Given the description of an element on the screen output the (x, y) to click on. 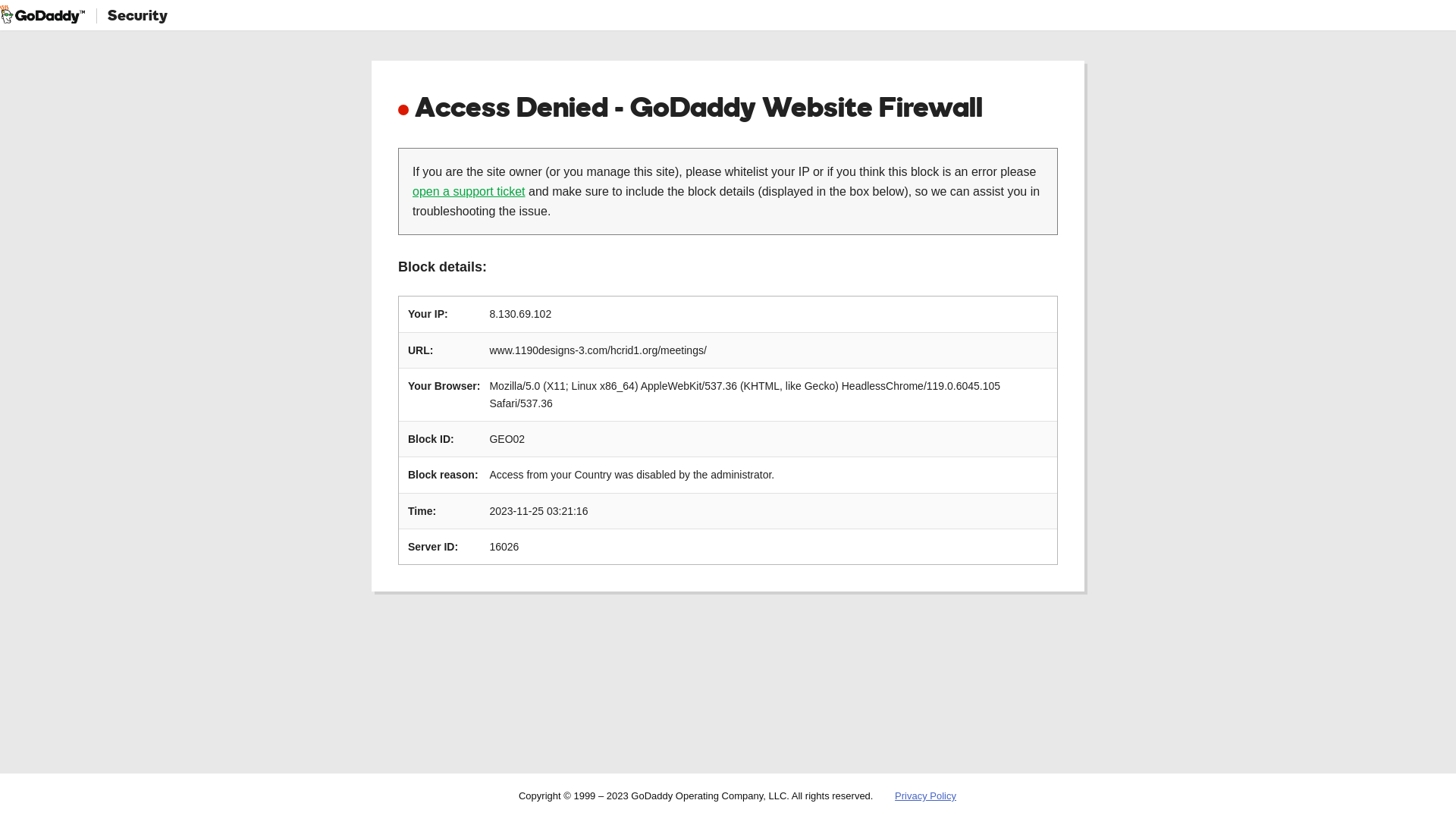
Privacy Policy Element type: text (925, 795)
open a support ticket Element type: text (468, 191)
